Given the description of an element on the screen output the (x, y) to click on. 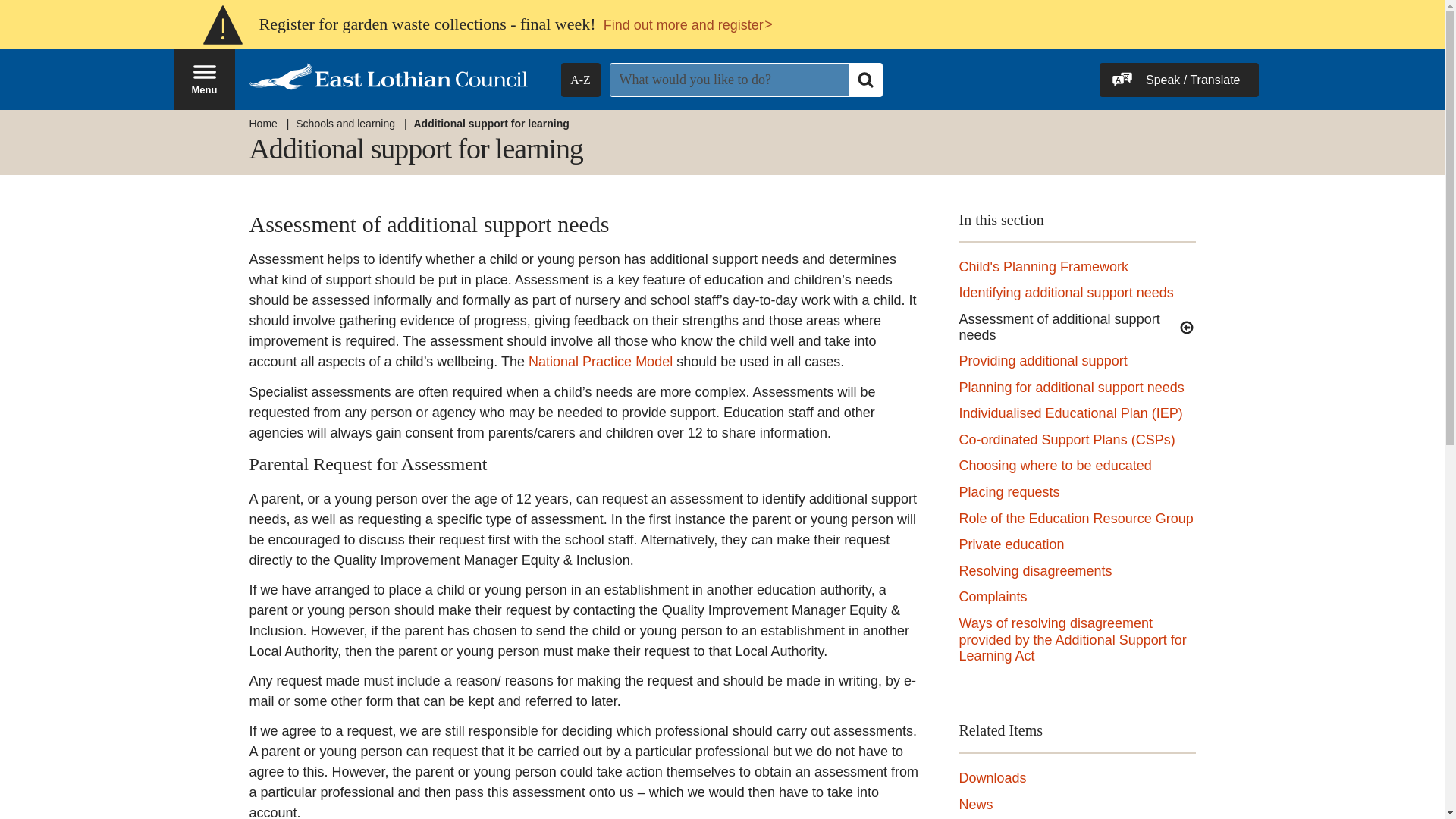
Find out more and register (688, 26)
Menu (204, 79)
Schools and learning (344, 124)
Search (864, 79)
Home (262, 124)
National Practice Model (1070, 388)
East Lothian Council Home Page (1043, 267)
